Given the description of an element on the screen output the (x, y) to click on. 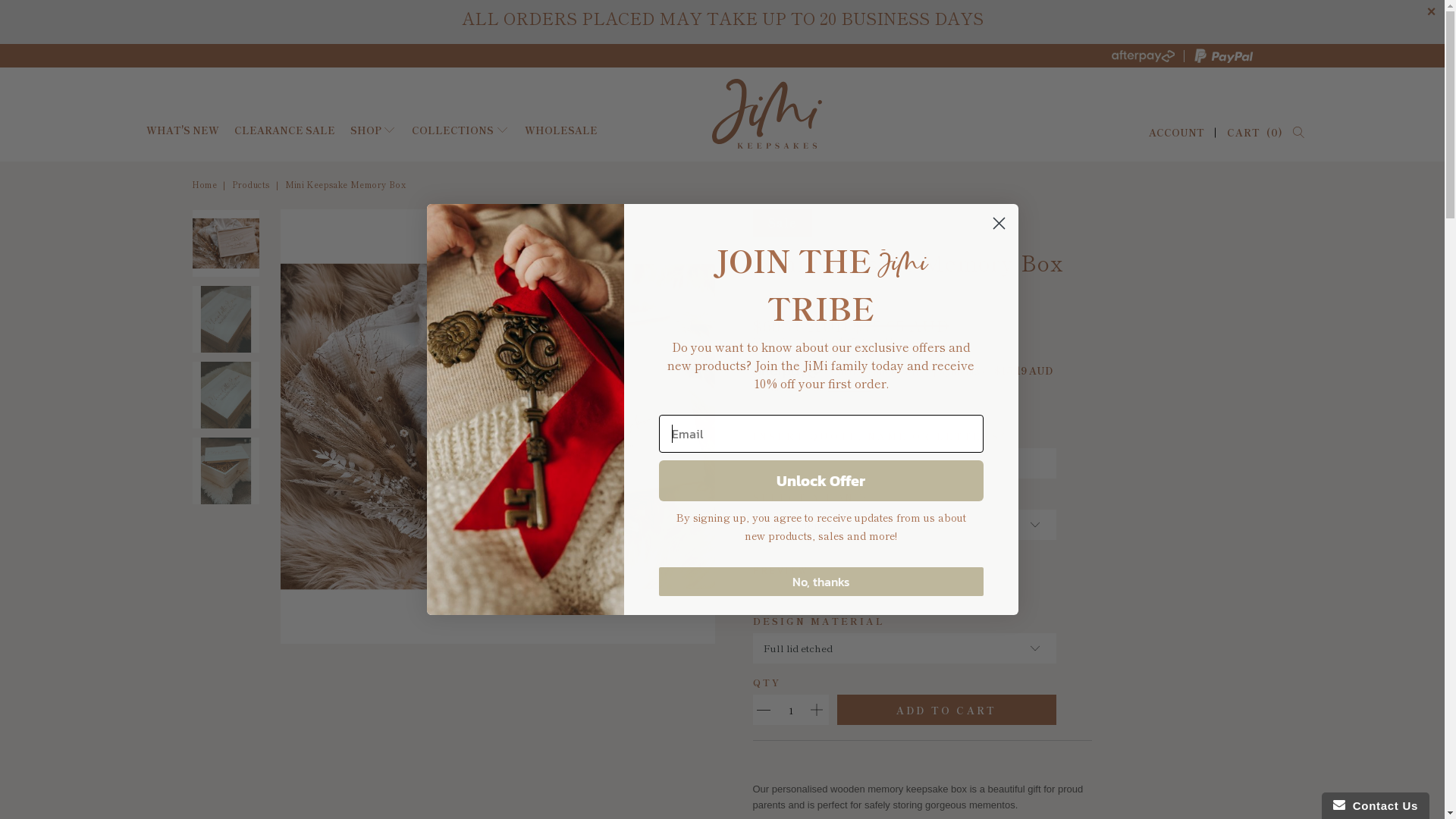
ACCOUNT Element type: text (1181, 132)
CART
(0) Element type: text (1254, 133)
COLLECTIONS Element type: text (460, 130)
Search Element type: hover (1297, 132)
Unlock Offer Element type: text (820, 480)
No, thanks Element type: text (820, 581)
Home Element type: text (203, 184)
Mini Keepsake Memory Box Element type: text (345, 184)
Products Element type: text (250, 184)
CLEARANCE SALE Element type: text (283, 130)
ADD TO CART Element type: text (946, 709)
WHOLESALE Element type: text (561, 130)
More info Element type: text (849, 387)
Submit Element type: text (106, 15)
WHAT'S NEW Element type: text (181, 130)
SHOP Element type: text (373, 130)
